Given the description of an element on the screen output the (x, y) to click on. 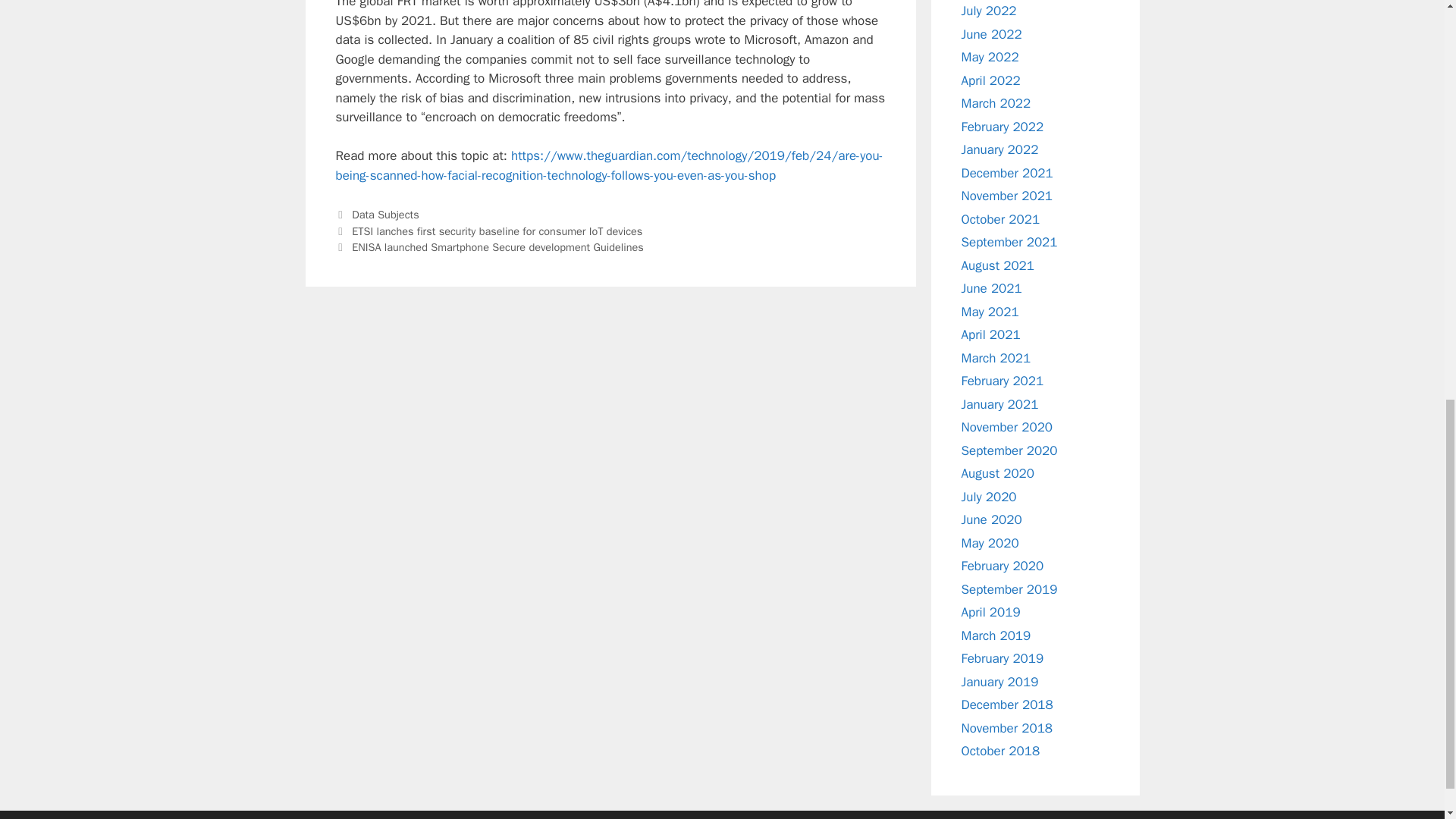
ENISA launched Smartphone Secure development Guidelines (497, 246)
April 2022 (990, 80)
June 2022 (991, 33)
Data Subjects (385, 214)
May 2022 (989, 57)
July 2022 (988, 10)
